Given the description of an element on the screen output the (x, y) to click on. 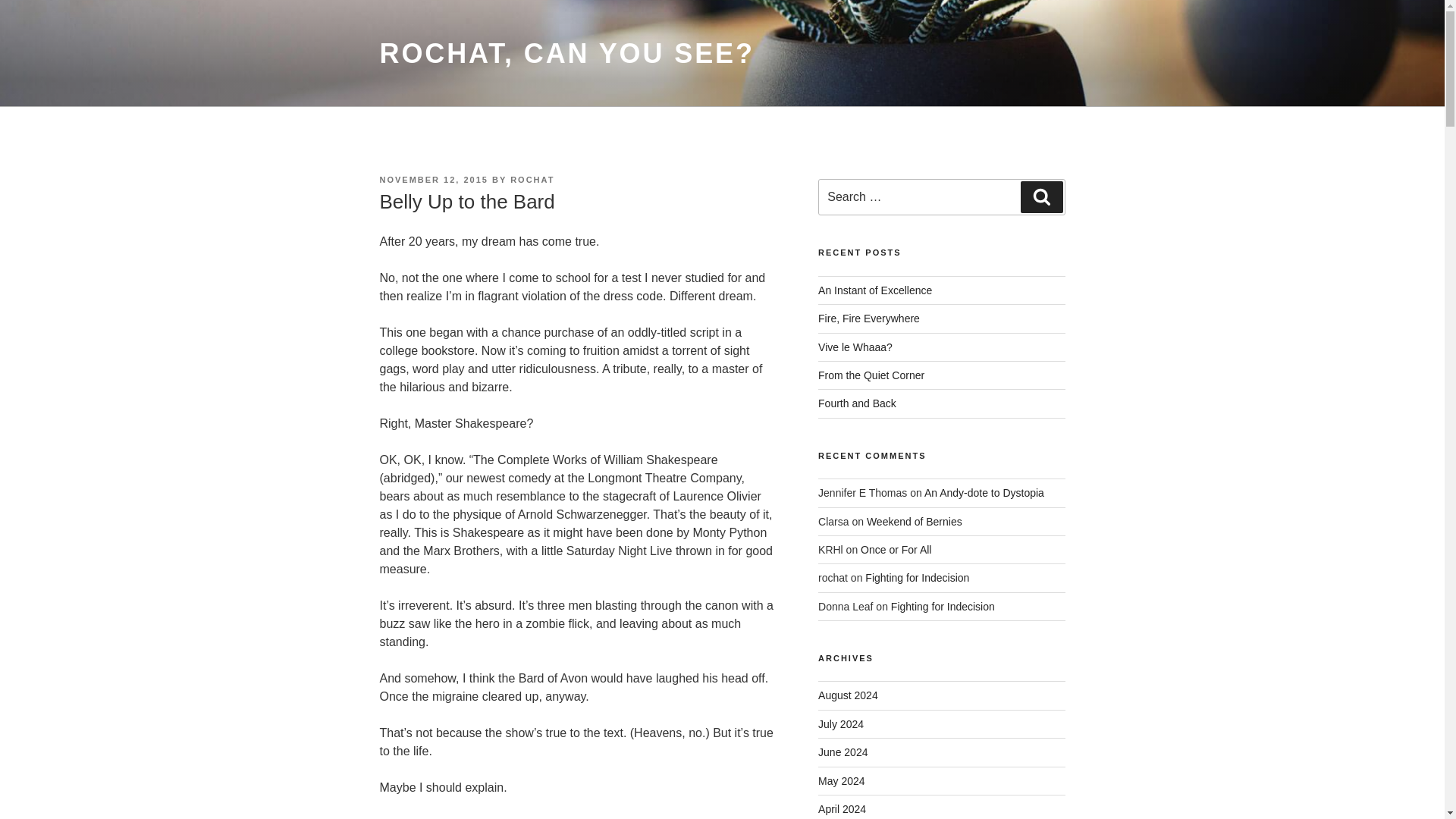
Vive le Whaaa? (855, 346)
From the Quiet Corner (871, 375)
Fire, Fire Everywhere (869, 318)
Fourth and Back (857, 403)
Search (1041, 196)
Weekend of Bernies (914, 521)
May 2024 (841, 780)
ROCHAT (532, 179)
June 2024 (842, 752)
NOVEMBER 12, 2015 (432, 179)
